Given the description of an element on the screen output the (x, y) to click on. 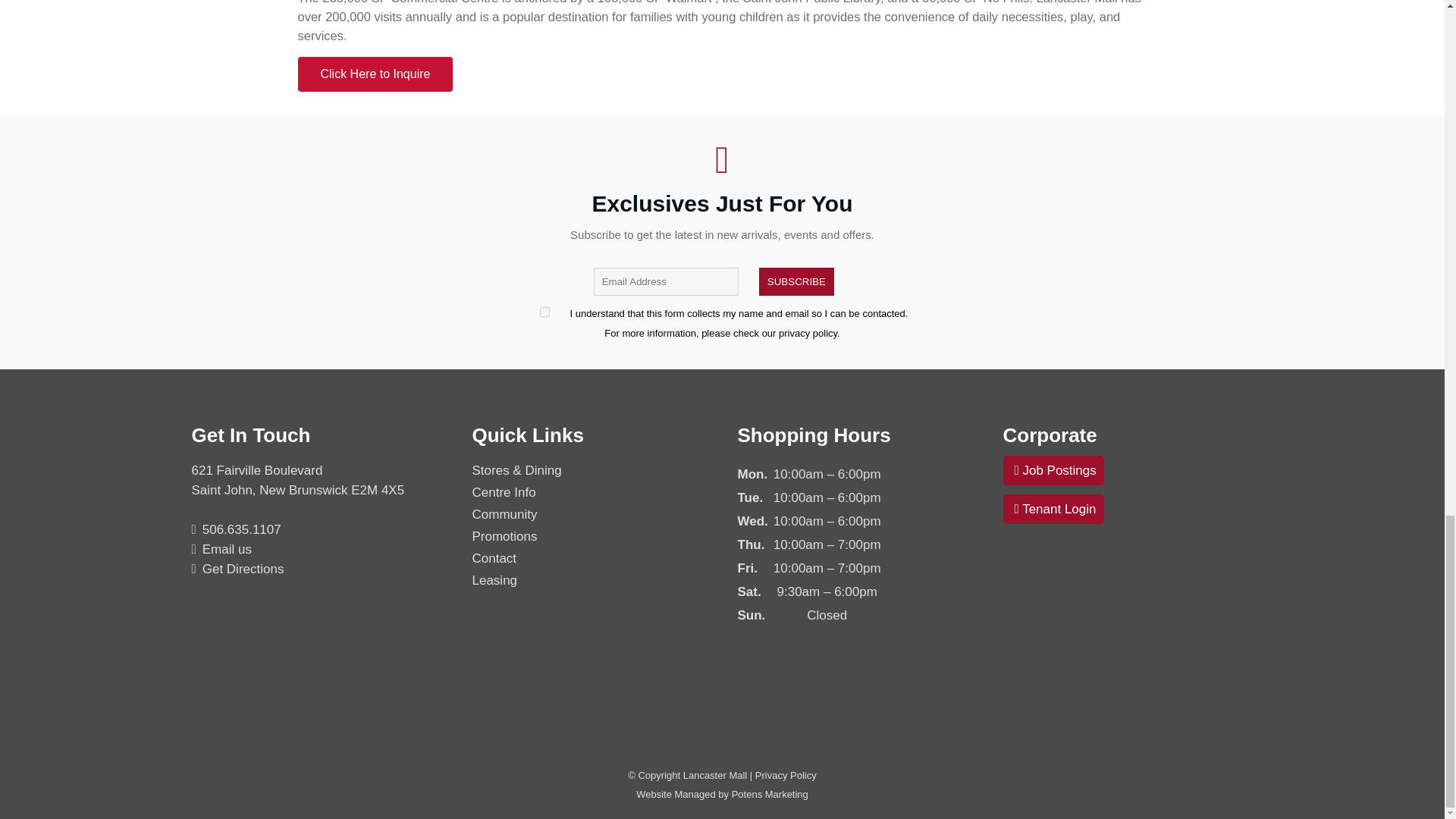
Contact (592, 558)
Get Directions (236, 568)
Community (592, 514)
506.635.1107 (235, 529)
Click Here to Inquire (374, 73)
Tenant Login (1053, 509)
Email us (220, 549)
Subscribe (796, 281)
Website Managed by Potens Marketing (722, 794)
1 (545, 311)
Job Postings (1053, 470)
Centre Info (592, 492)
Privacy Policy (785, 775)
Subscribe (796, 281)
